Given the description of an element on the screen output the (x, y) to click on. 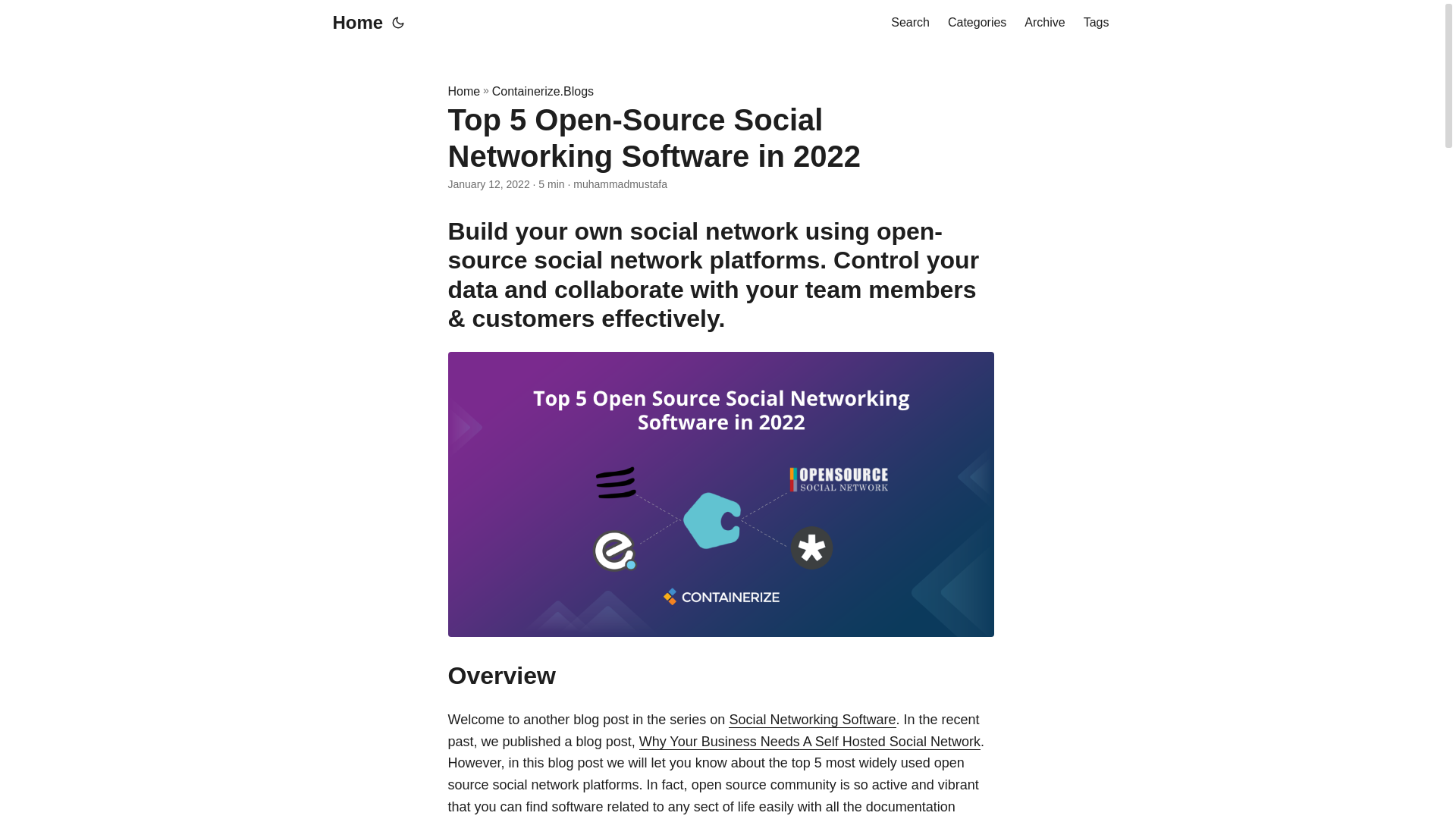
Categories (976, 22)
Why Your Business Needs A Self Hosted Social Network (809, 741)
Home (463, 91)
Containerize.Blogs (543, 91)
Home (356, 22)
Social Networking Software (812, 719)
Categories (976, 22)
